Given the description of an element on the screen output the (x, y) to click on. 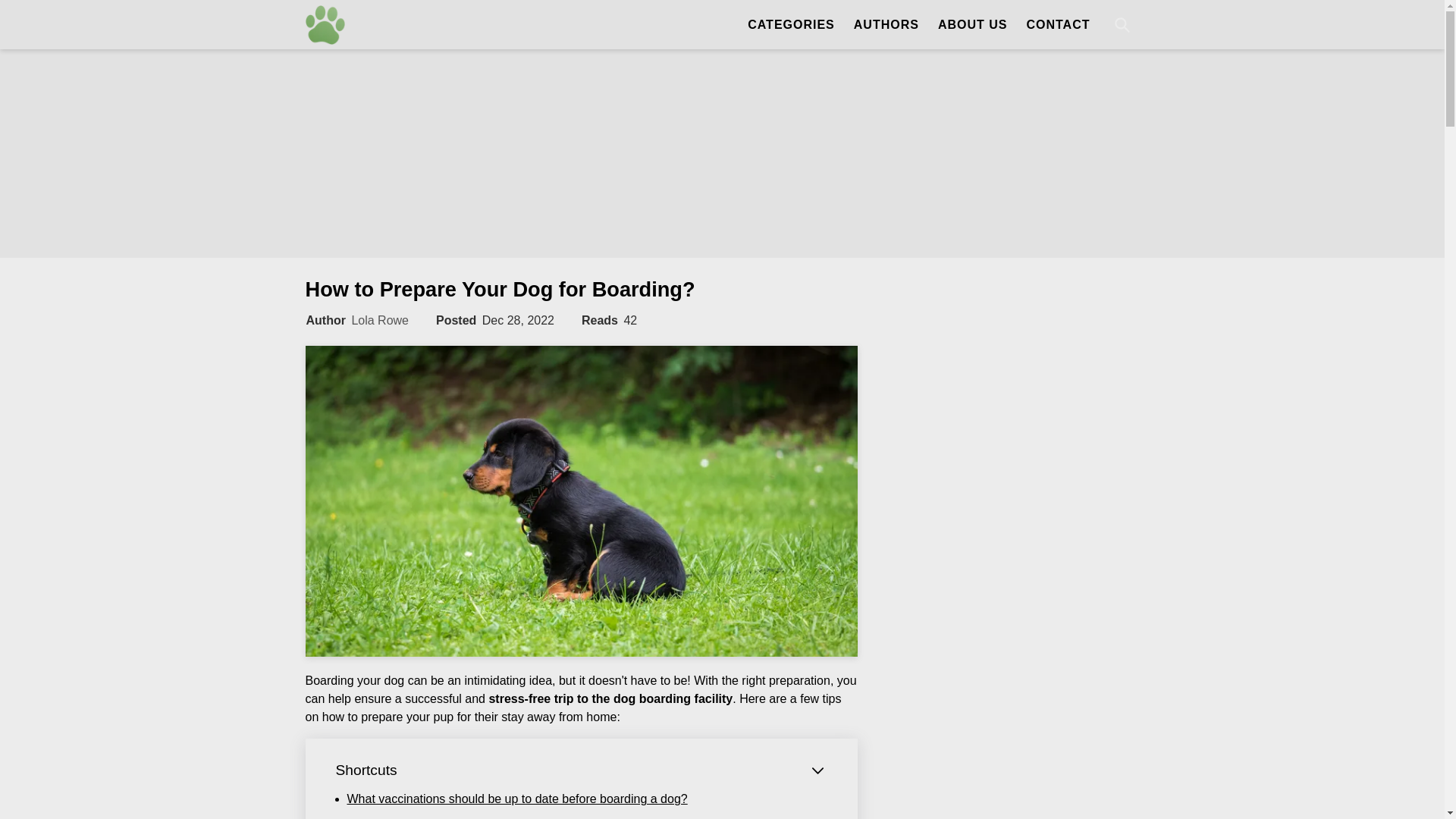
Lola Rowe (379, 319)
CATEGORIES (783, 24)
ABOUT US (972, 24)
CONTACT (1057, 24)
AUTHORS (885, 24)
